Given the description of an element on the screen output the (x, y) to click on. 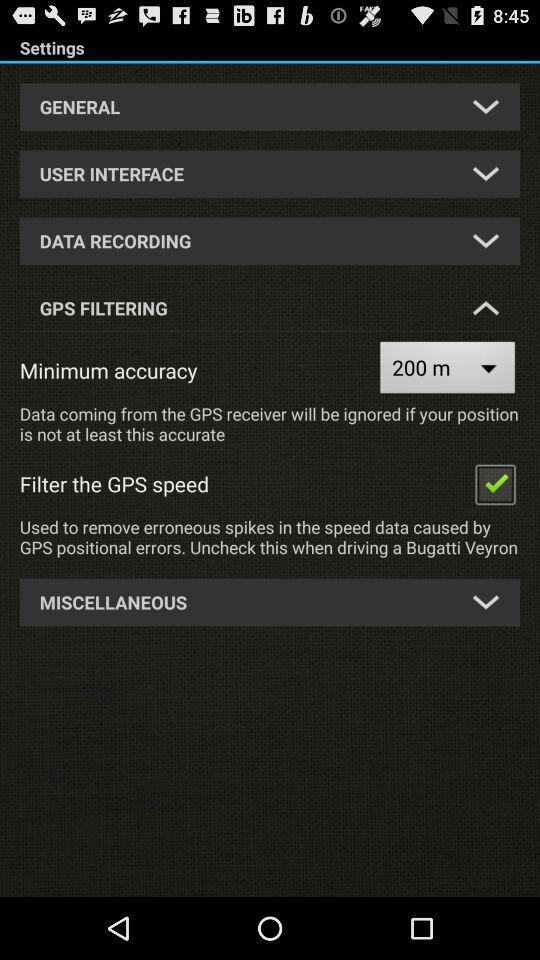
select filter the gps speed option (495, 483)
